Given the description of an element on the screen output the (x, y) to click on. 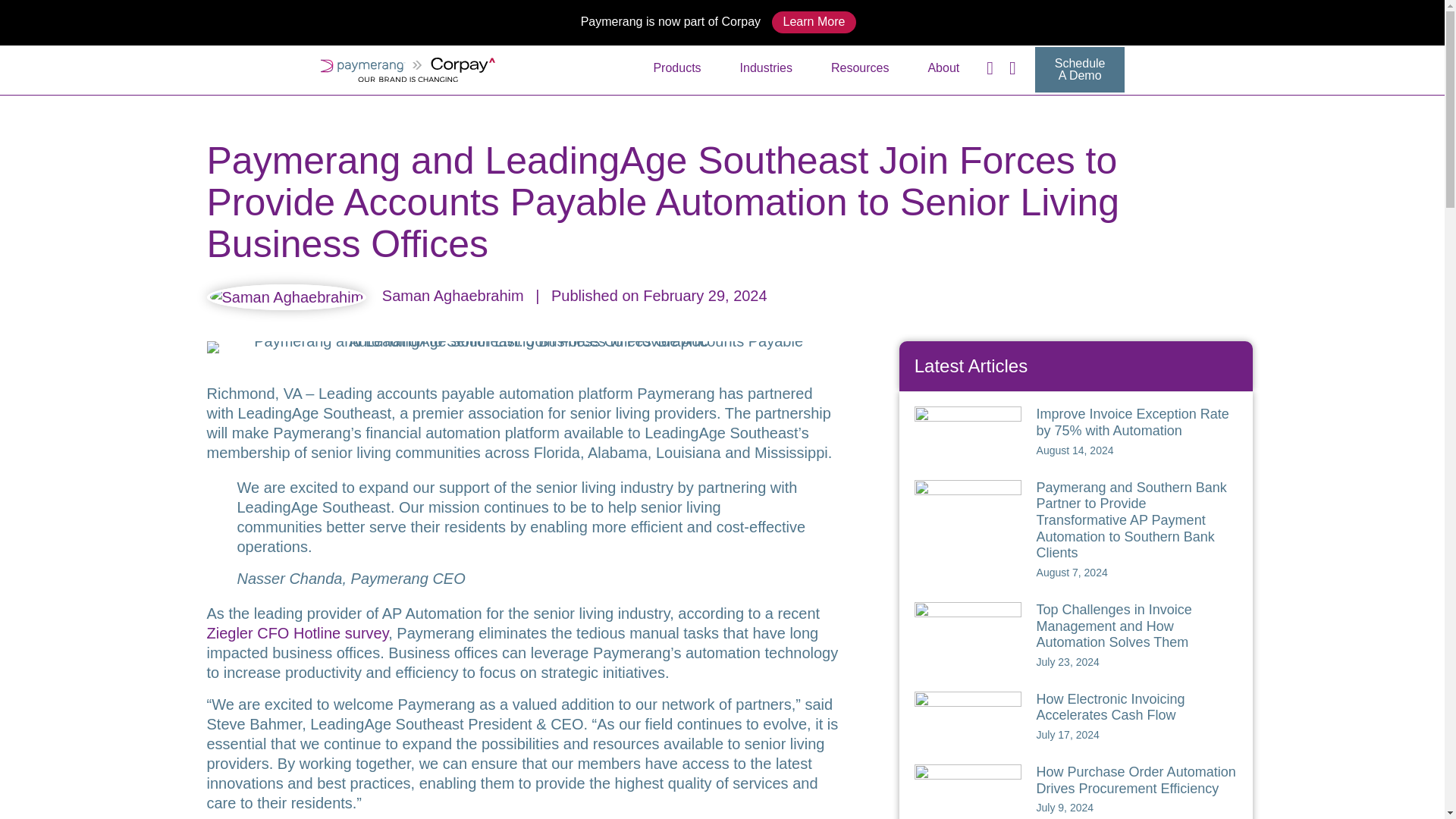
How Purchase Order Automation Drives Procurement Efficiency (1136, 780)
About (943, 67)
How Purchase Order Automation Drives Procurement Efficiency (968, 795)
Resources (859, 67)
How Electronic Invoicing Accelerates Cash Flow (1110, 707)
